Given the description of an element on the screen output the (x, y) to click on. 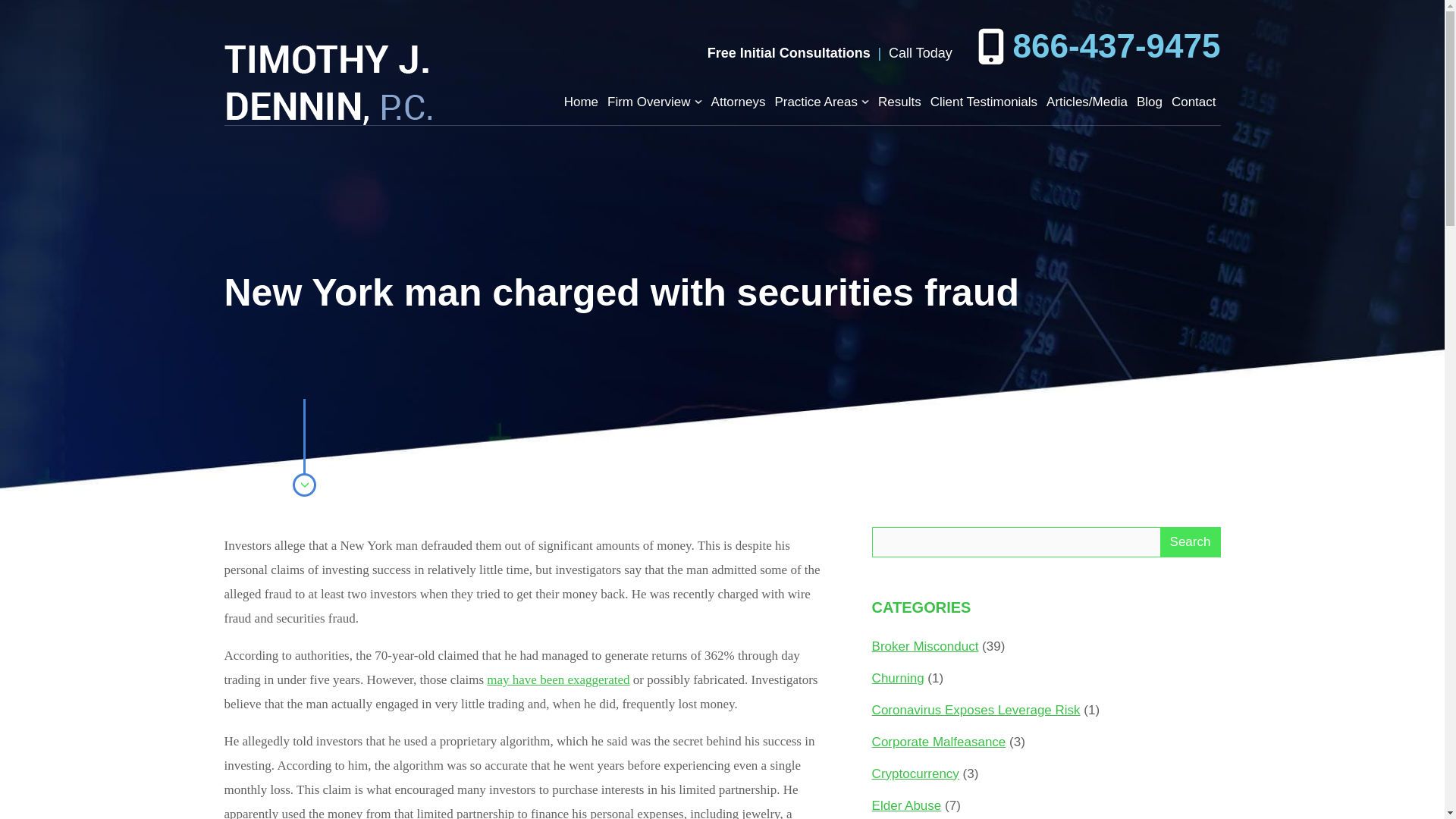
Timothy J. Dennin, P.C. (327, 85)
Home (581, 101)
866-437-9475 (1099, 45)
Attorneys (738, 101)
Practice Areas (815, 101)
Firm Overview (648, 101)
